Given the description of an element on the screen output the (x, y) to click on. 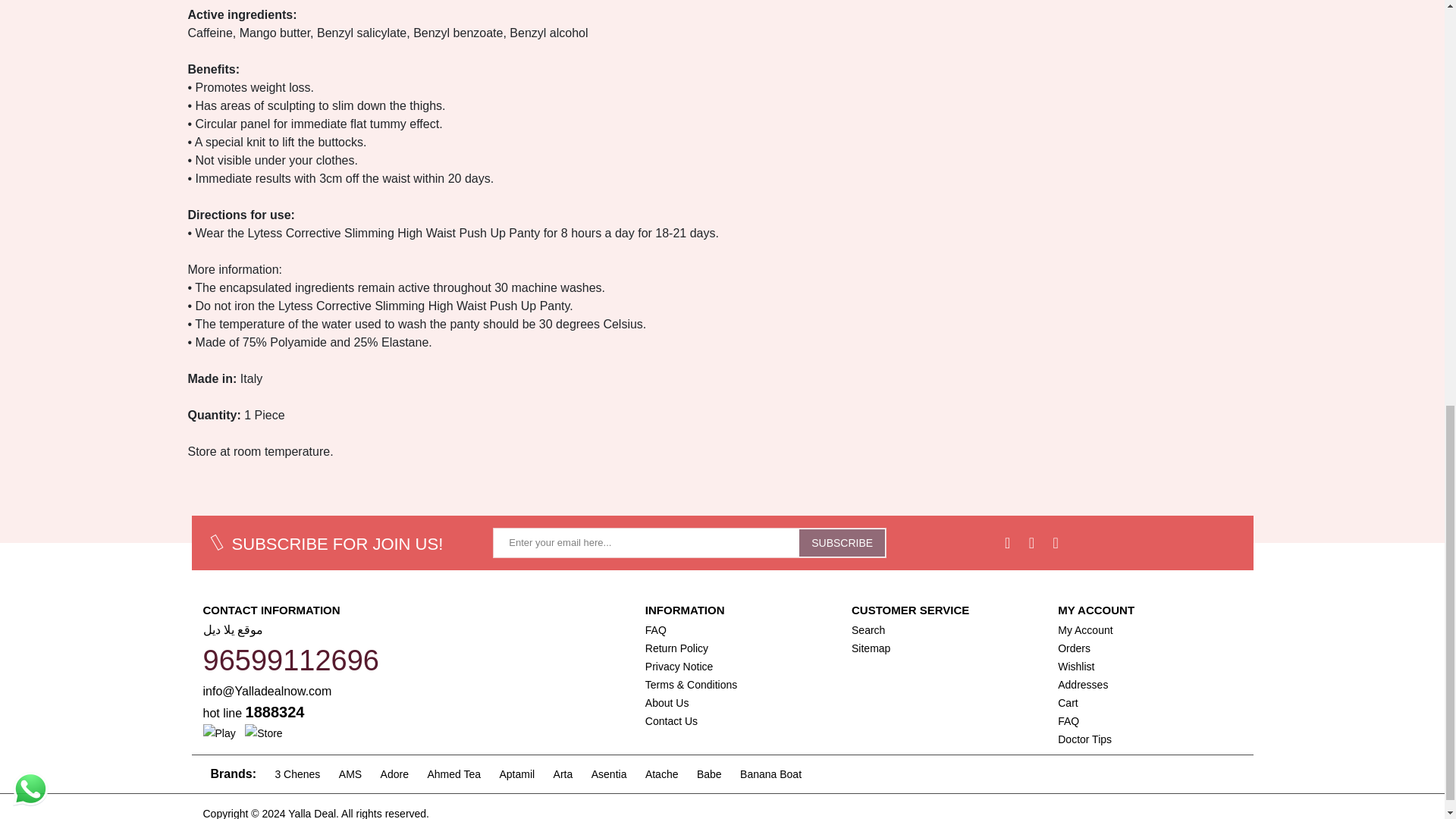
instagram (1032, 542)
youtube (1055, 542)
facebook (1007, 542)
